Given the description of an element on the screen output the (x, y) to click on. 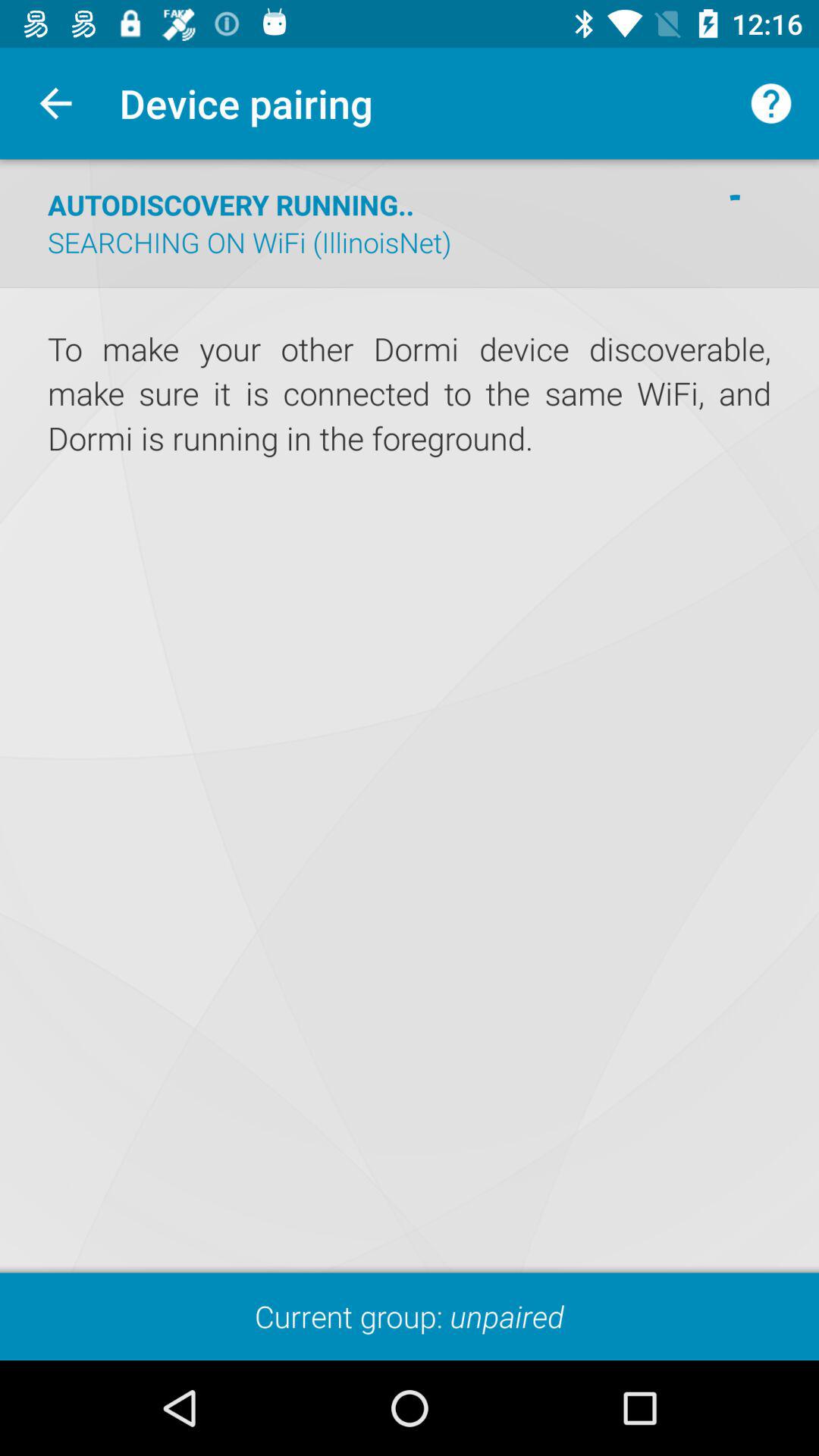
choose the app next to the device pairing item (771, 103)
